Given the description of an element on the screen output the (x, y) to click on. 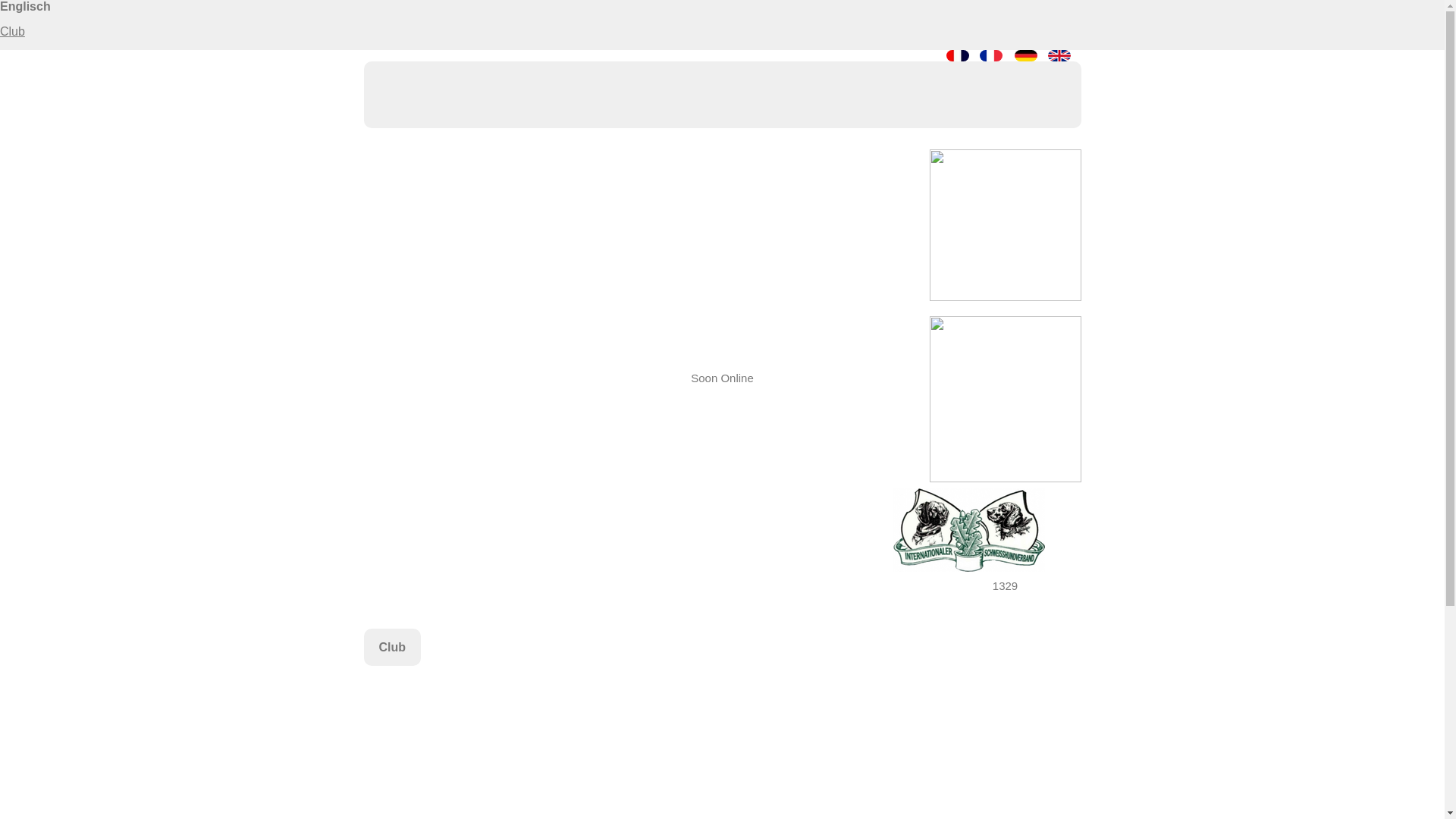
Club Element type: text (12, 31)
Club Element type: text (392, 646)
